Given the description of an element on the screen output the (x, y) to click on. 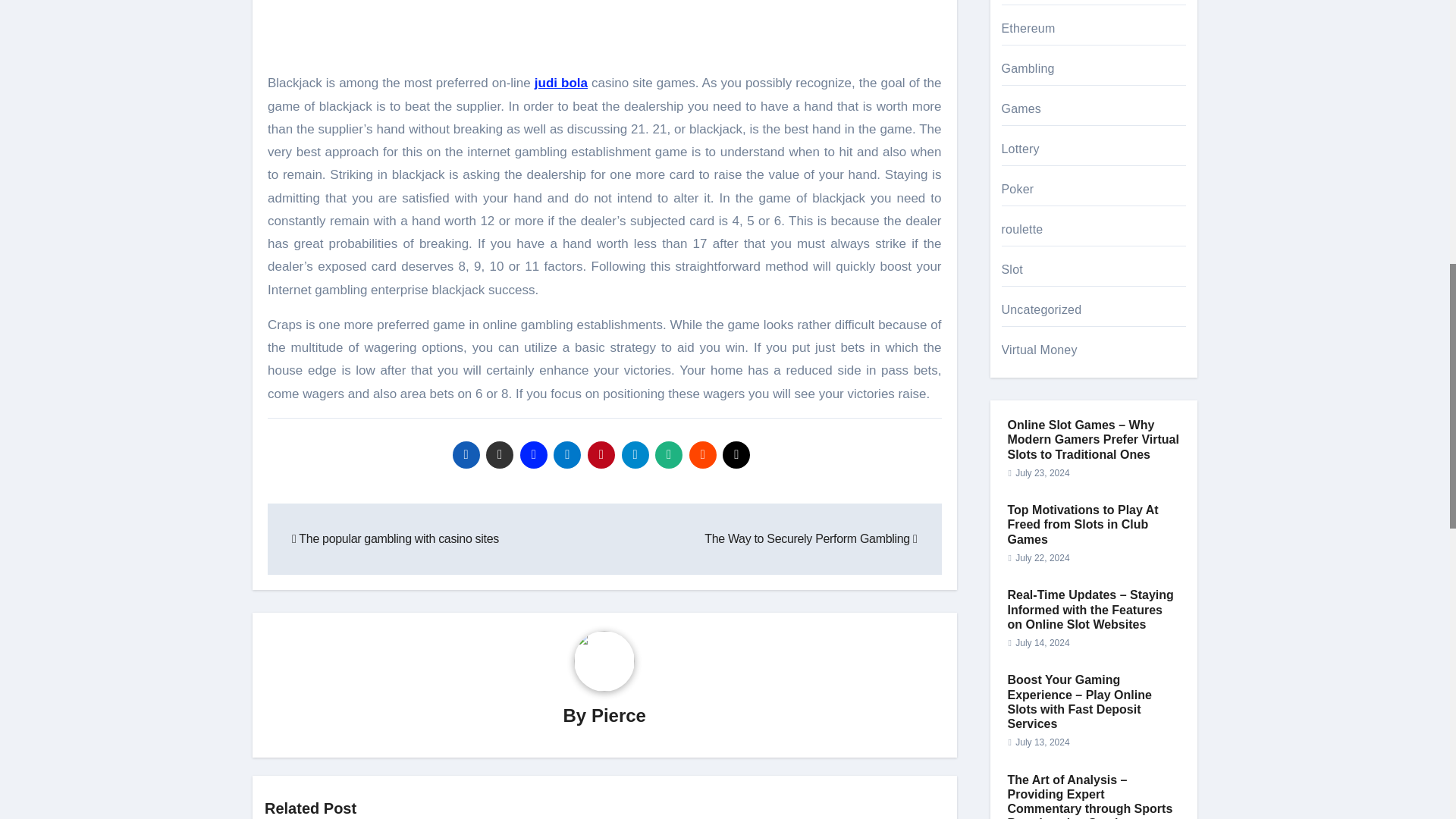
The Way to Securely Perform Gambling (810, 538)
judi bola (561, 83)
Pierce (618, 715)
The popular gambling with casino sites (395, 538)
